Given the description of an element on the screen output the (x, y) to click on. 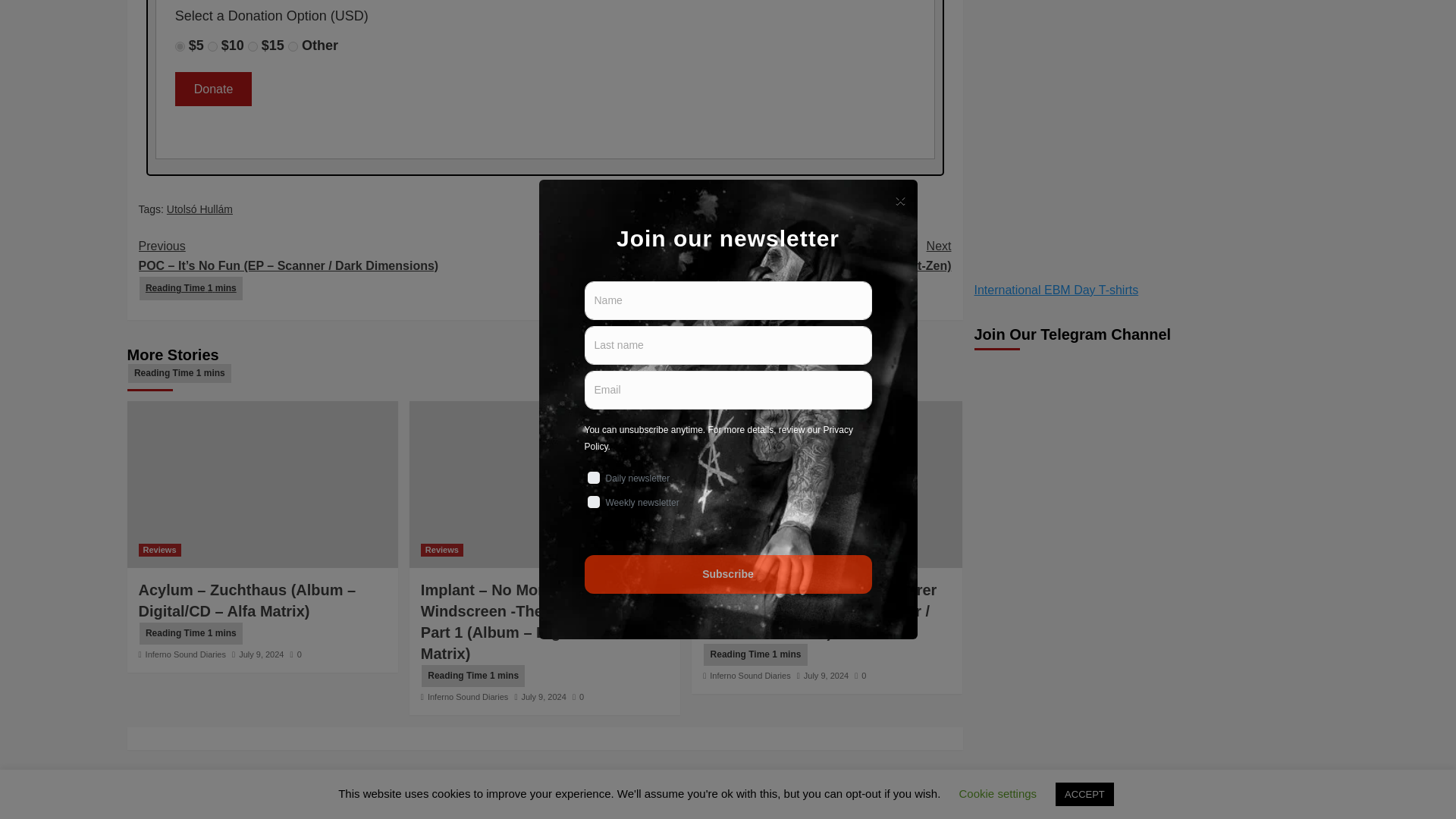
Donate (212, 89)
